Given the description of an element on the screen output the (x, y) to click on. 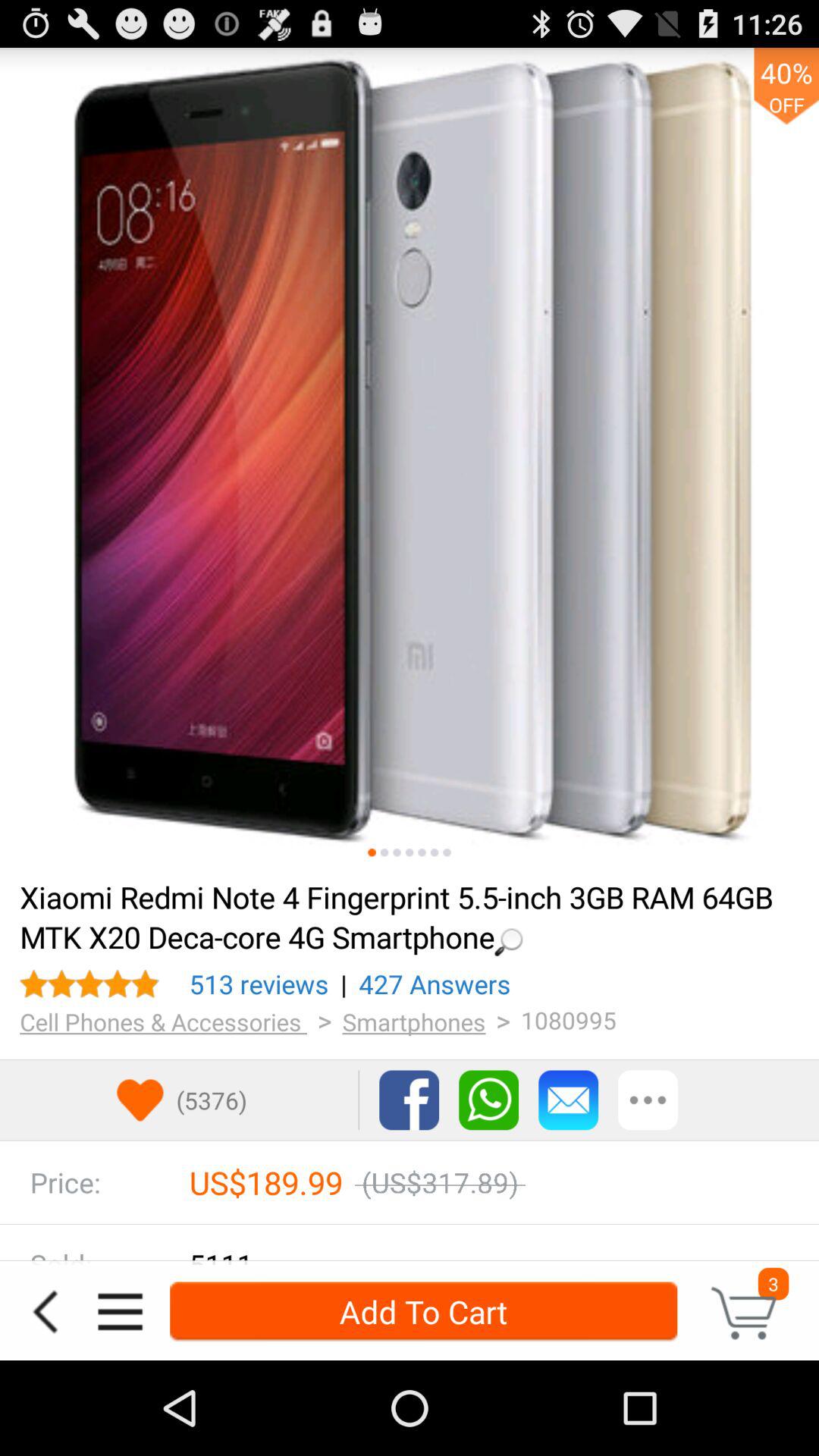
the image of one of the phones (447, 852)
